Given the description of an element on the screen output the (x, y) to click on. 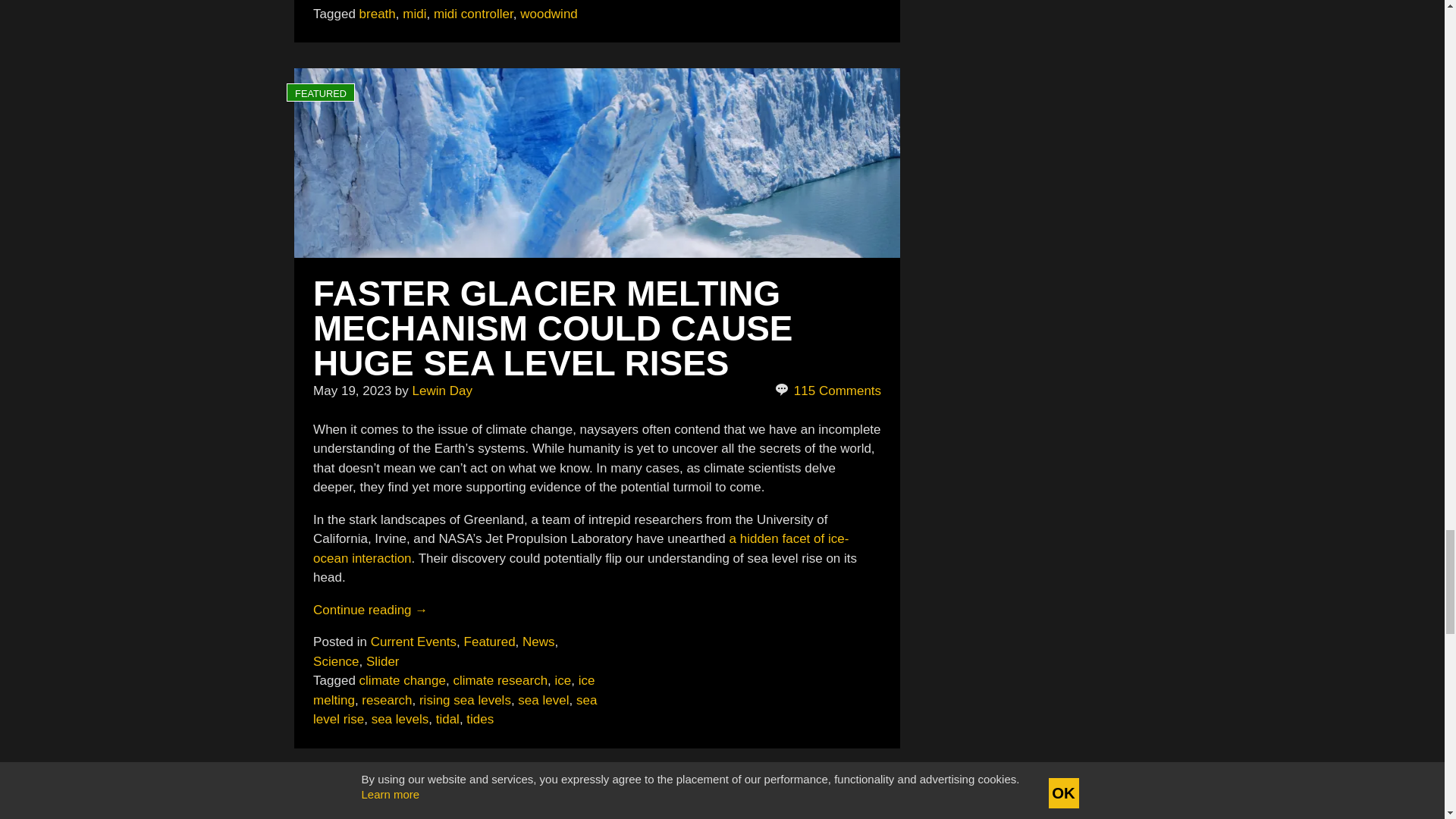
Posts by Lewin Day (441, 391)
May 19, 2023 - 10:00 am (352, 391)
